Given the description of an element on the screen output the (x, y) to click on. 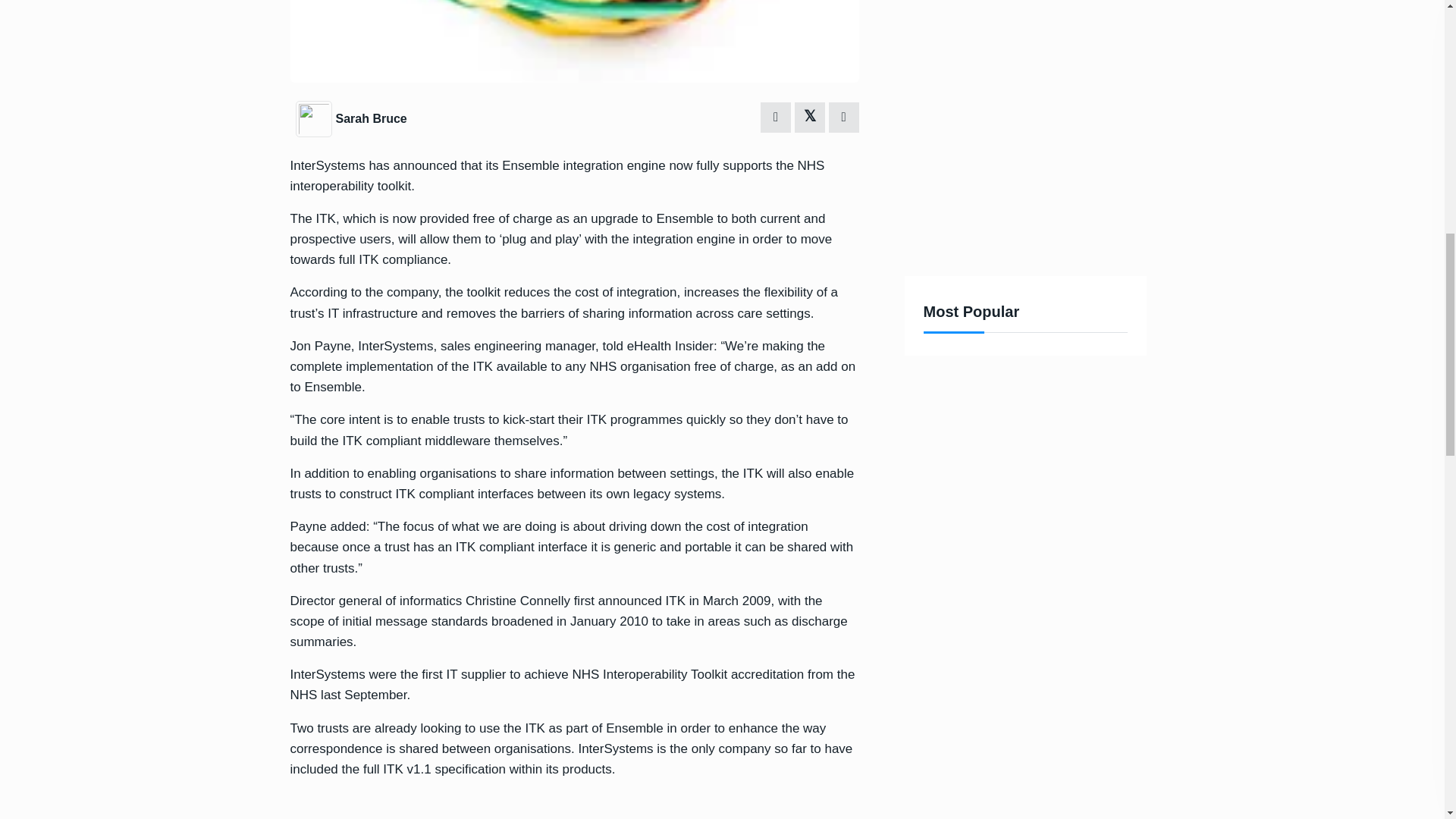
Sarah Bruce (370, 118)
Sarah Bruce (315, 117)
